Given the description of an element on the screen output the (x, y) to click on. 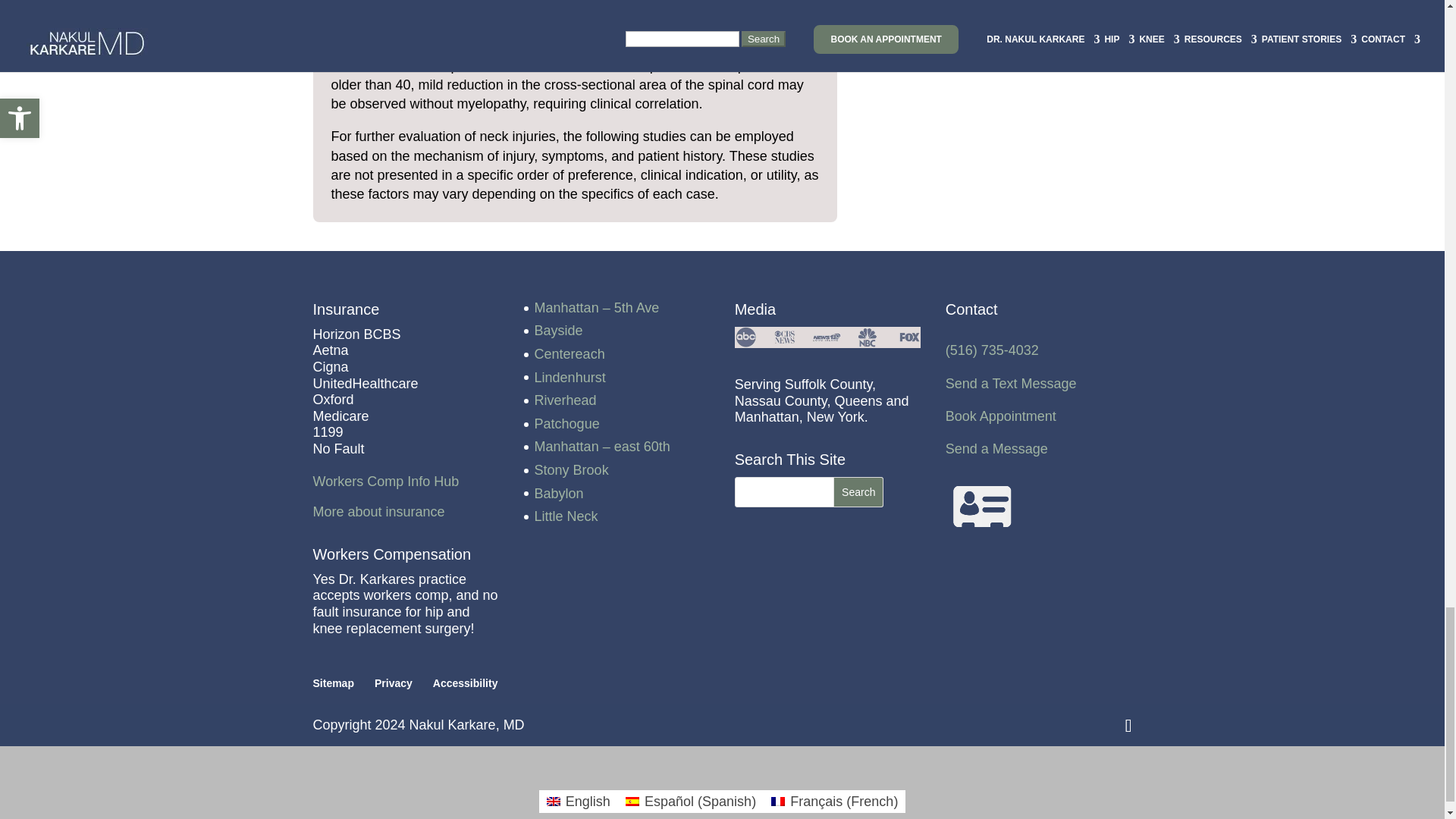
Download Dr. Karkare's vCard at Complete Orthopedics (983, 506)
media logos (828, 337)
Search (857, 491)
